Given the description of an element on the screen output the (x, y) to click on. 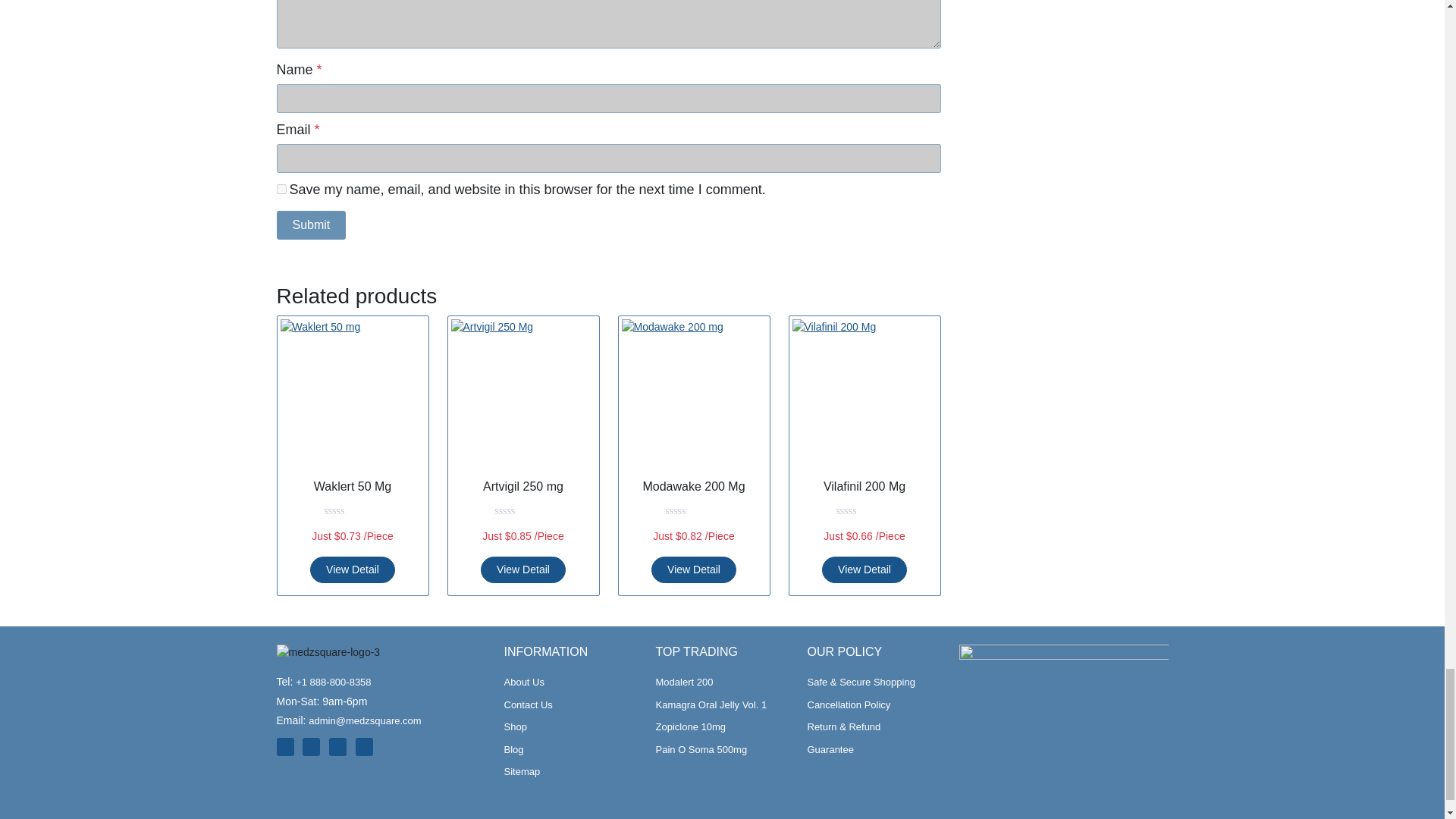
yes (280, 189)
Submit (311, 224)
